Given the description of an element on the screen output the (x, y) to click on. 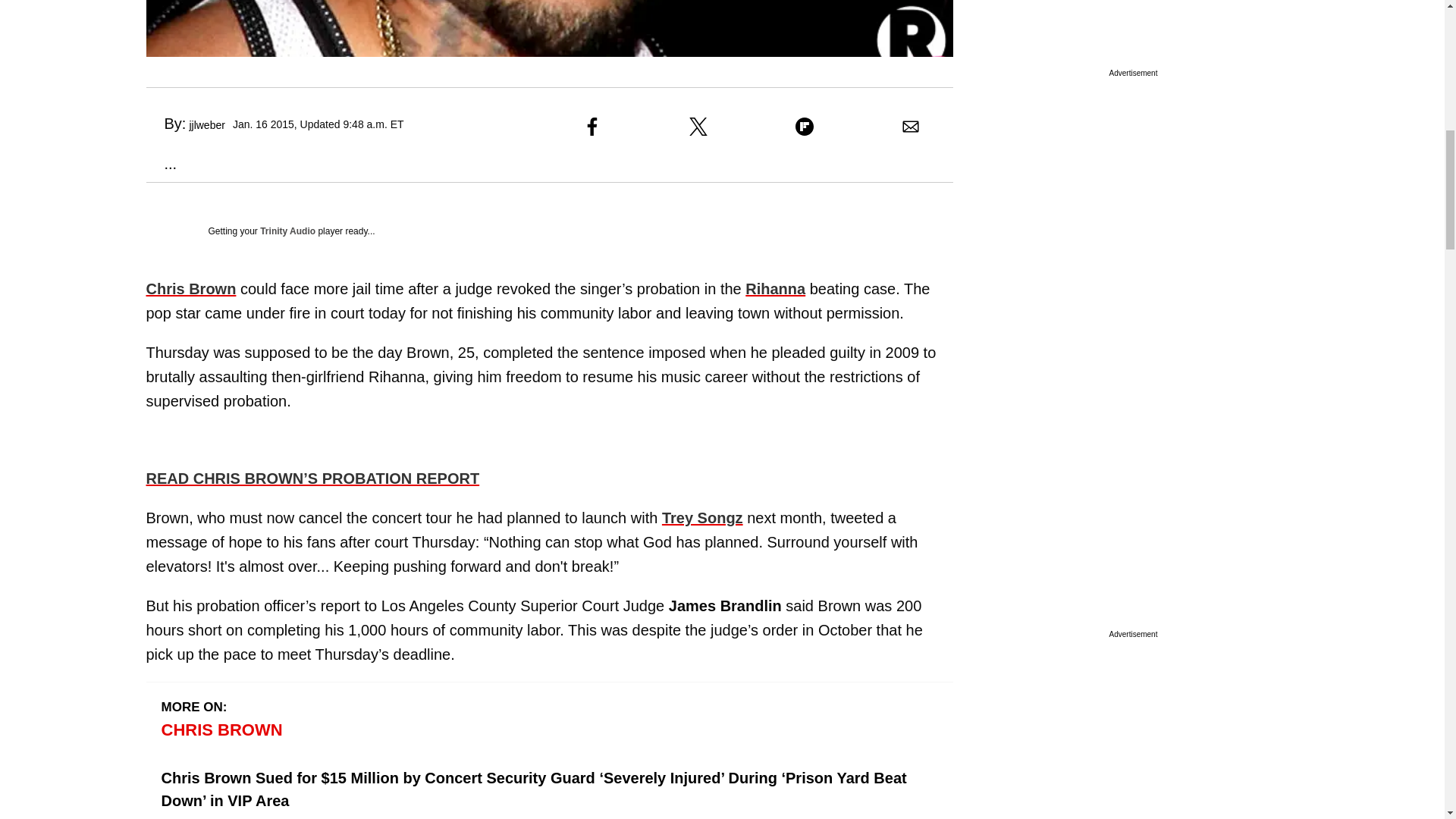
Share to X (697, 126)
Trinity Audio (287, 231)
Trey Songz (702, 517)
Share to Flipboard (803, 126)
Chris Brown (190, 288)
Share to Facebook (590, 126)
... (160, 163)
Share to Email (909, 126)
jjlweber (206, 124)
Rihanna (775, 288)
